Given the description of an element on the screen output the (x, y) to click on. 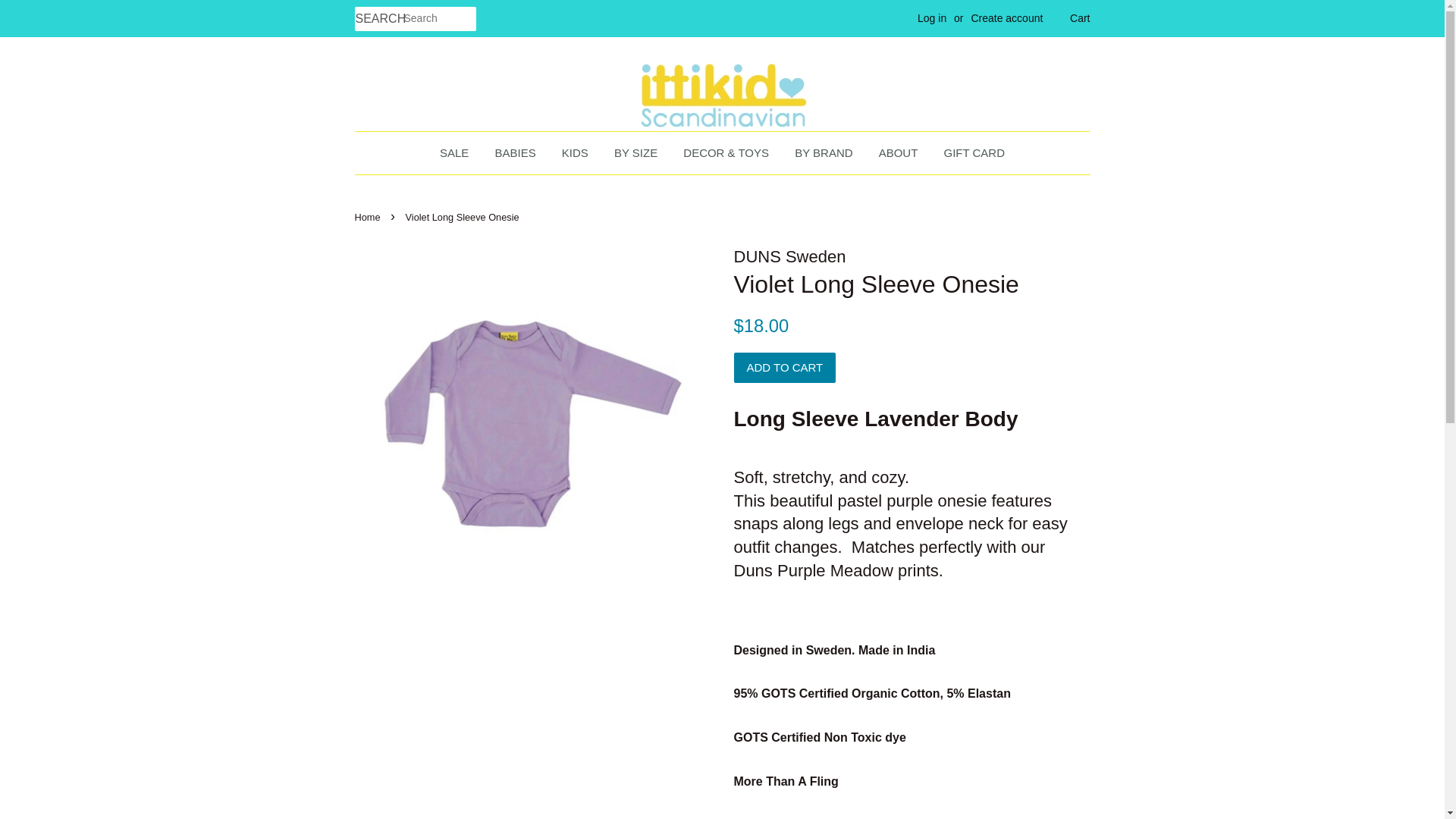
Create account (1006, 18)
SEARCH (379, 18)
Back to the frontpage (369, 216)
Log in (931, 18)
Cart (1079, 18)
